Given the description of an element on the screen output the (x, y) to click on. 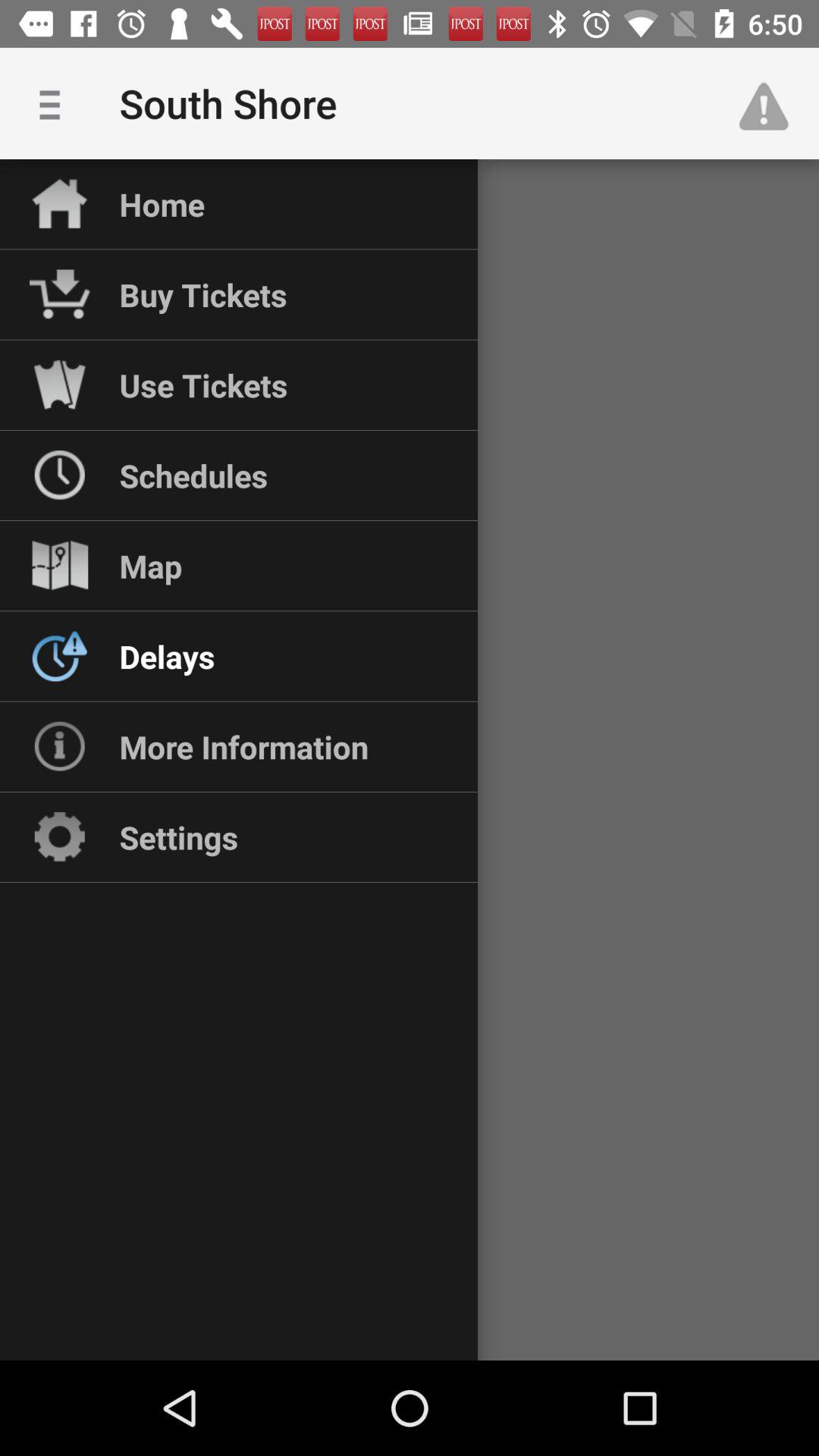
flip until the use tickets item (203, 384)
